Given the description of an element on the screen output the (x, y) to click on. 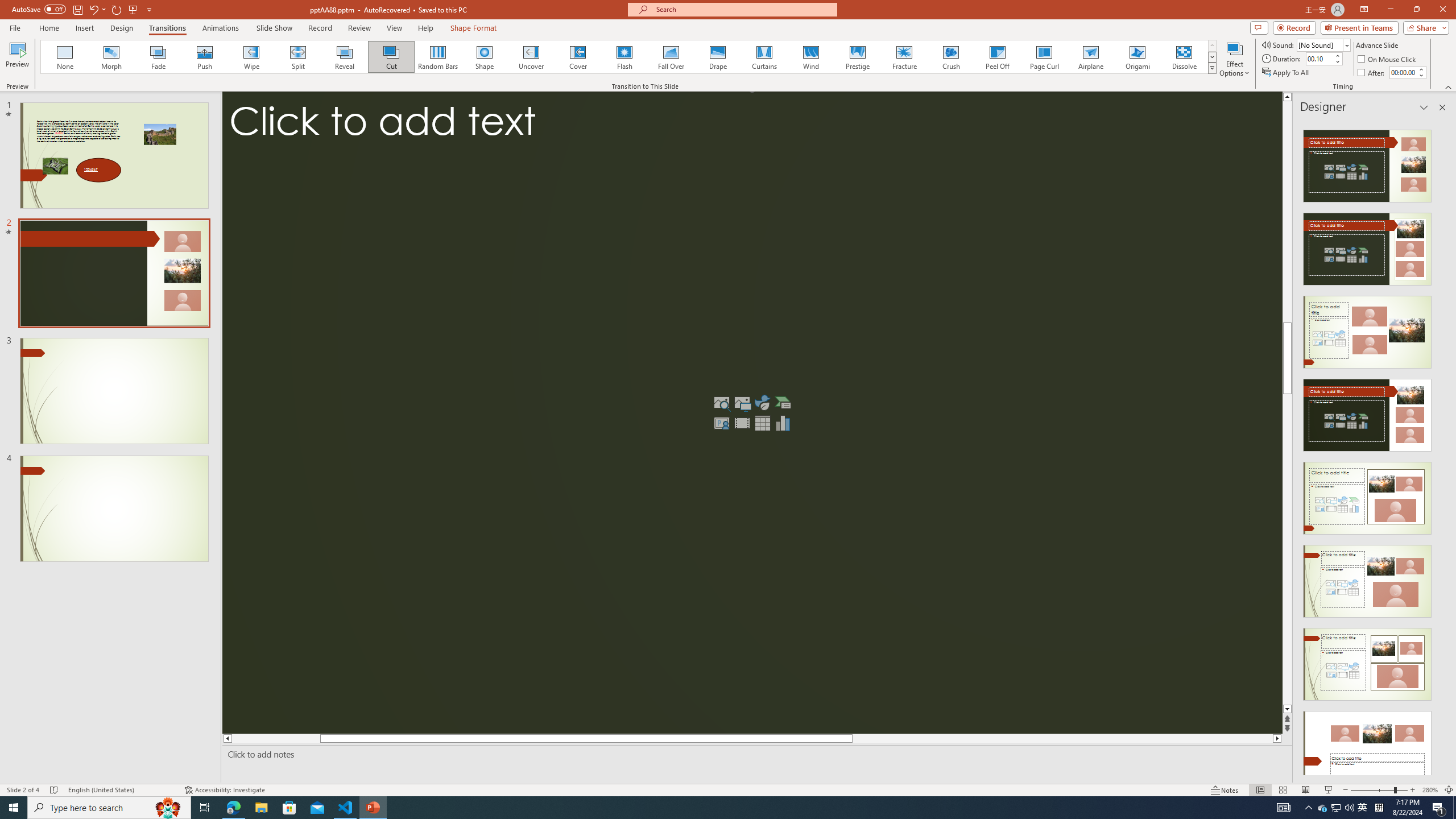
Airplane (1090, 56)
Uncover (531, 56)
After (1372, 72)
Flash (624, 56)
Peel Off (997, 56)
Insert a SmartArt Graphic (783, 402)
